Given the description of an element on the screen output the (x, y) to click on. 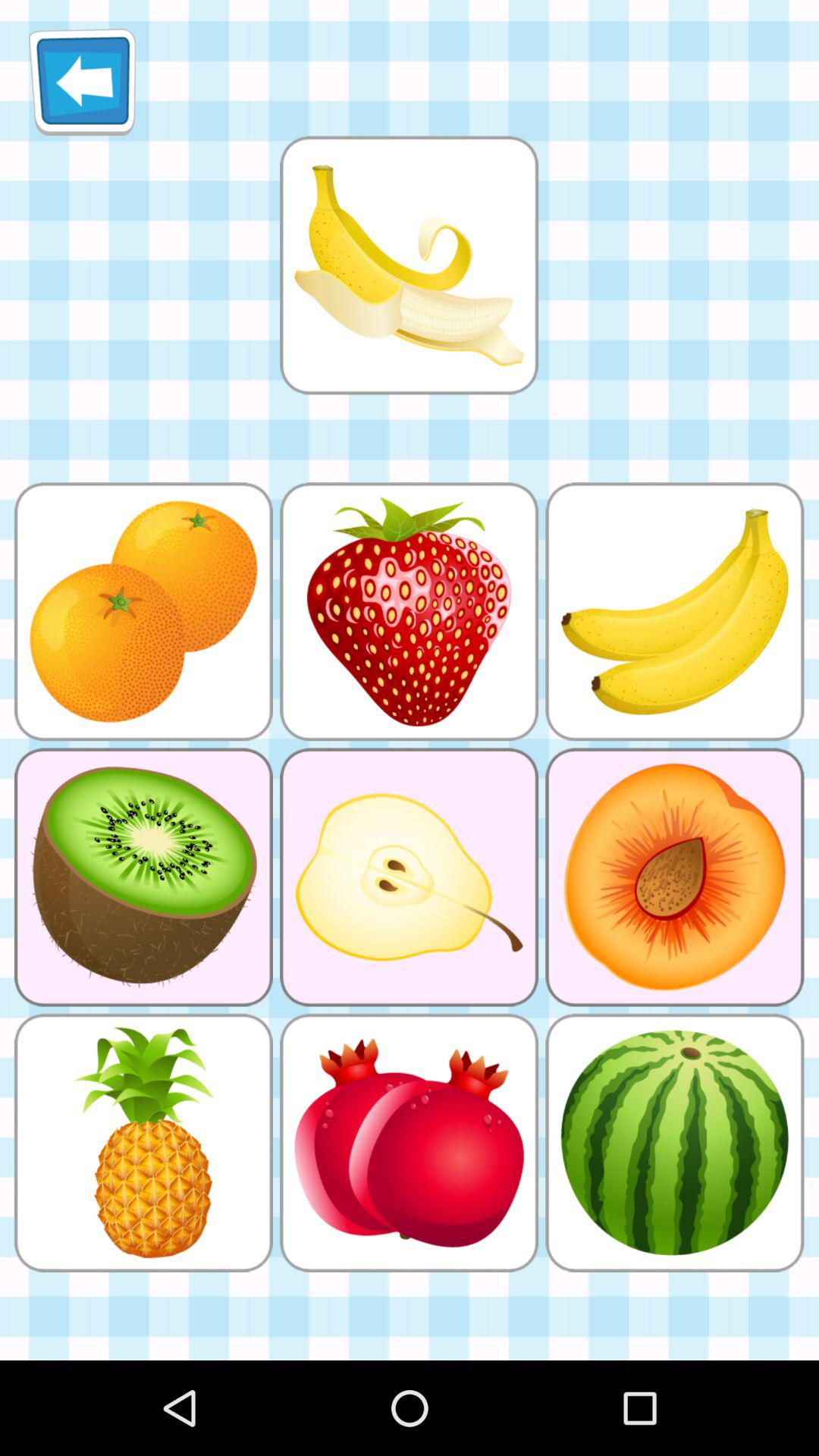
turn on icon at the top left corner (82, 82)
